Given the description of an element on the screen output the (x, y) to click on. 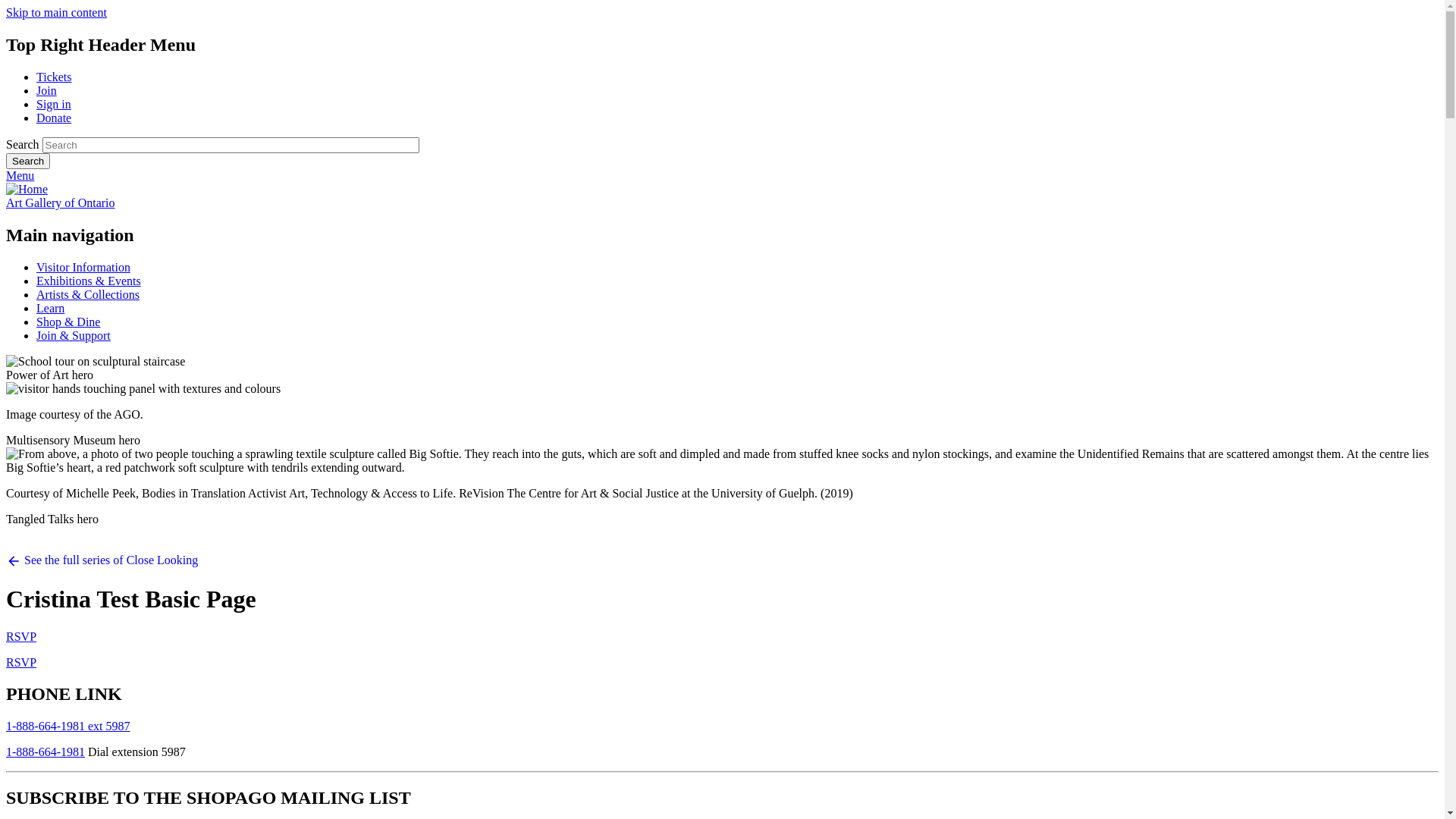
RSVP Element type: text (21, 661)
Join Element type: text (46, 90)
Donate Element type: text (53, 117)
1-888-664-1981 ext 5987 Element type: text (68, 725)
1-888-664-1981 Element type: text (45, 751)
Learn Element type: text (50, 307)
RSVP Element type: text (21, 635)
Art Gallery of Ontario Element type: text (60, 202)
Menu Element type: text (20, 175)
Skip to main content Element type: text (56, 12)
Shop & Dine Element type: text (68, 321)
Tickets Element type: text (54, 76)
Search Element type: text (28, 161)
Sign in Element type: text (53, 103)
Artists & Collections Element type: text (87, 294)
See the full series of Close Looking Element type: text (106, 553)
Join & Support Element type: text (73, 335)
Exhibitions & Events Element type: text (88, 280)
Visitor Information Element type: text (83, 266)
